Given the description of an element on the screen output the (x, y) to click on. 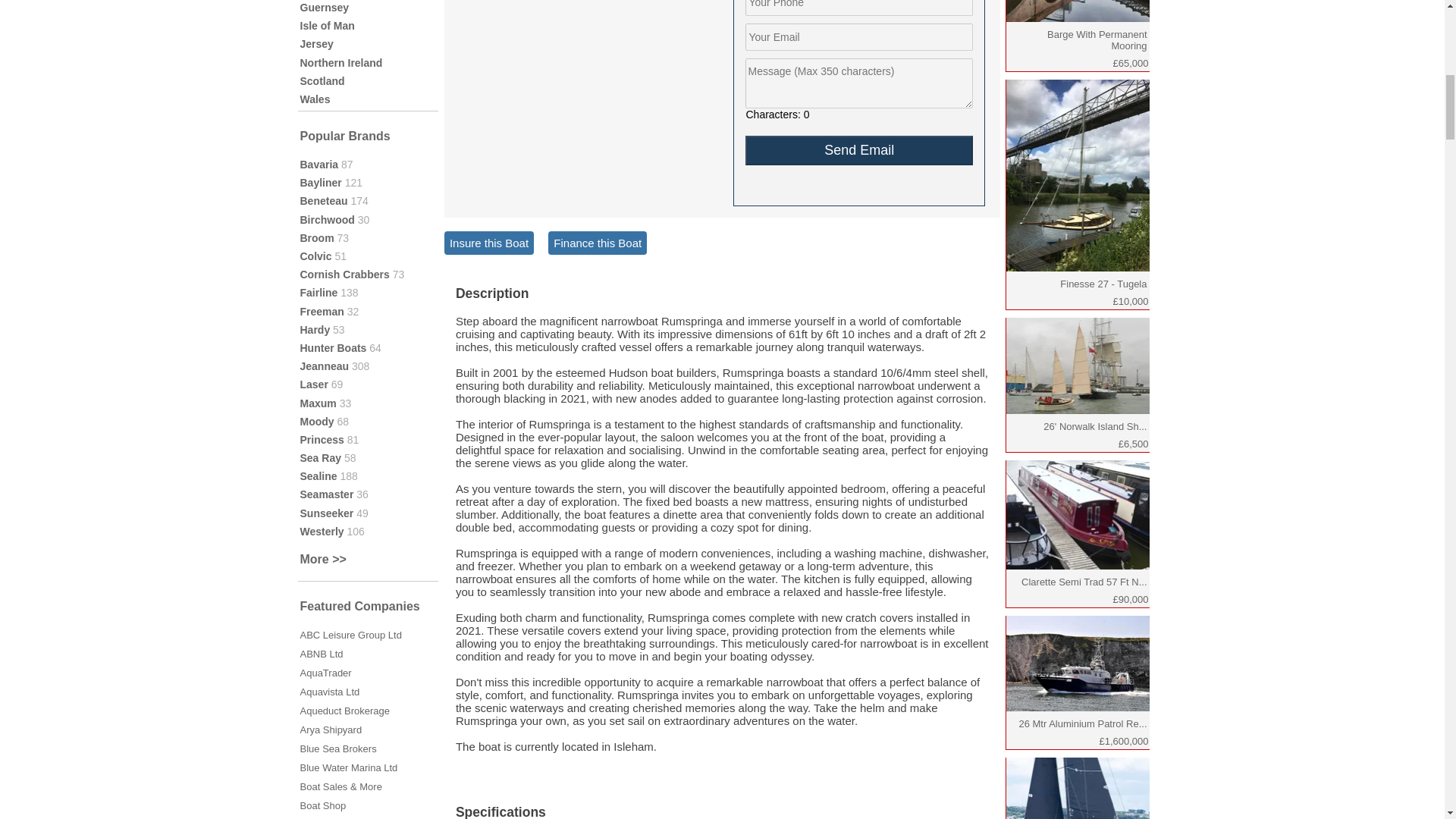
Blue Sea Brokers, Spain (338, 748)
Blue Water Marina Ltd, UK (348, 767)
Boat Shop, UK (322, 805)
ABNB Ltd, UK (321, 654)
AquaTrader, UK (325, 672)
Aquavista Ltd, UK (329, 691)
Aqueduct Brokerage, UK (344, 710)
Arya Shipyard, Turkey (330, 729)
Send Email (858, 150)
ABC Leisure Group Ltd, UK (350, 634)
